Given the description of an element on the screen output the (x, y) to click on. 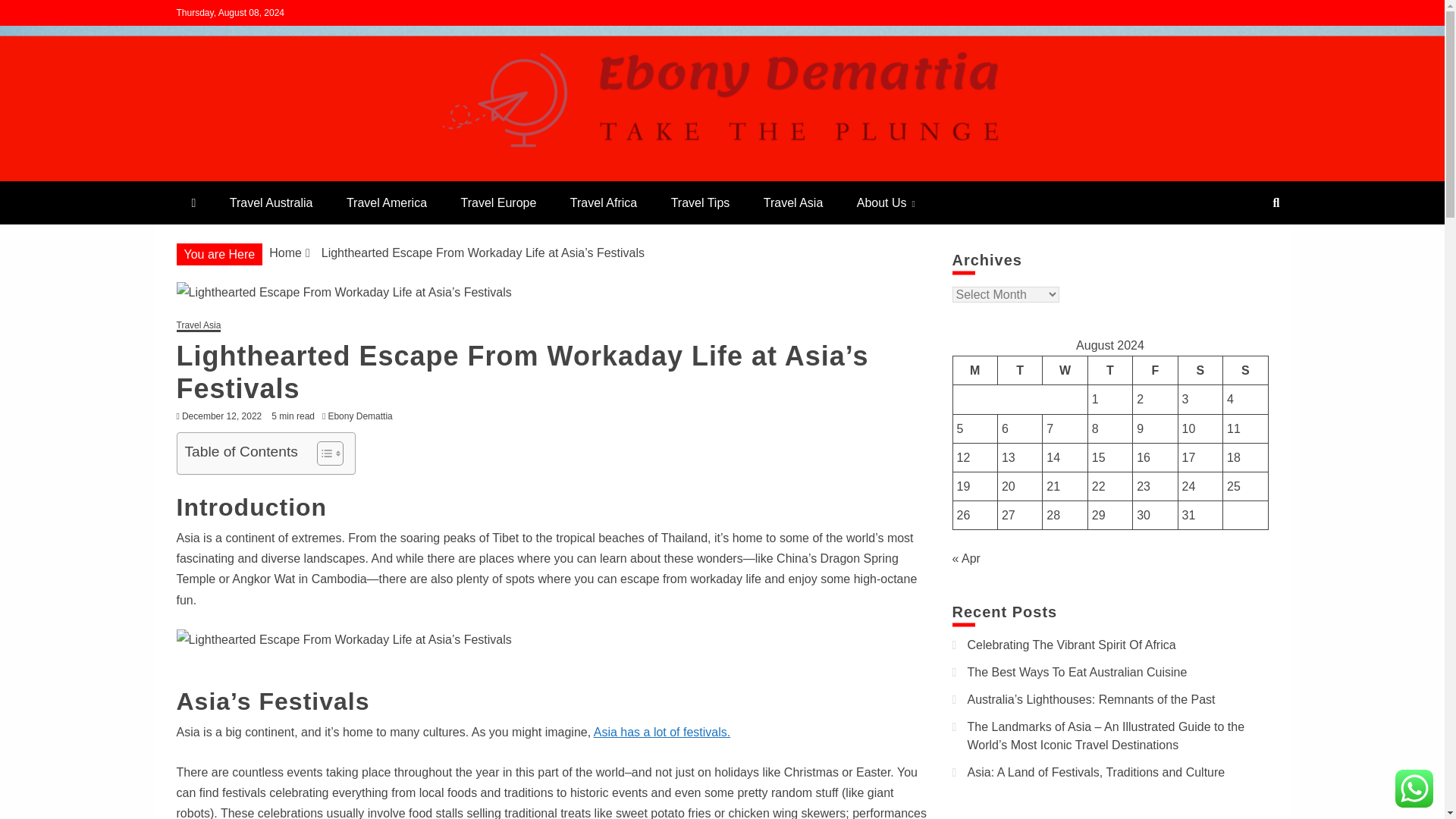
Travel Asia (793, 202)
Search (31, 13)
Travel Asia (198, 326)
Travel Europe (498, 202)
Ebony Demattia (284, 174)
Travel Africa (603, 202)
Travel Tips (700, 202)
Asia has a lot of festivals. (662, 731)
Ebony Demattia (362, 416)
Travel Australia (271, 202)
